Given the description of an element on the screen output the (x, y) to click on. 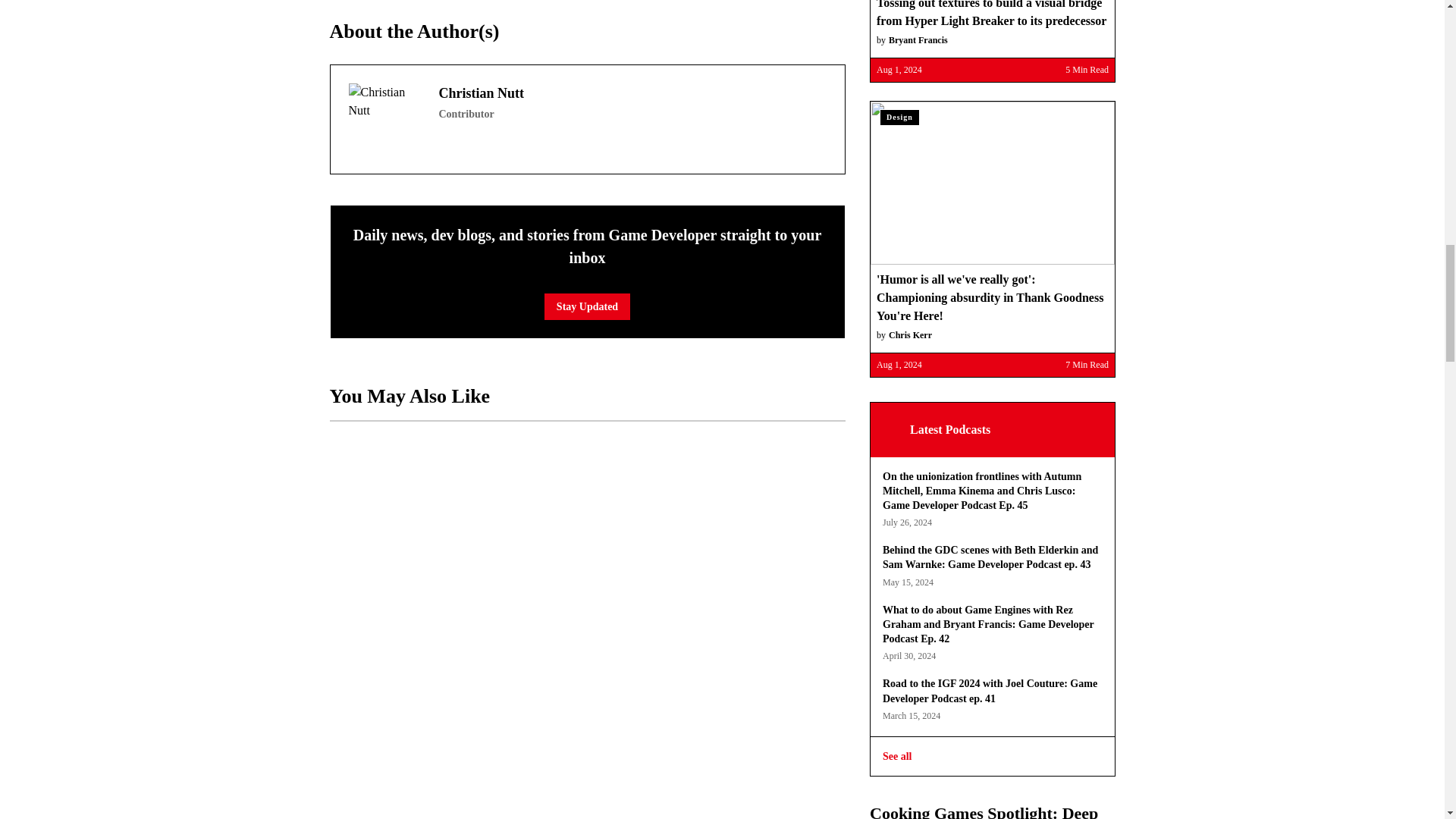
Christian Nutt (384, 119)
